Given the description of an element on the screen output the (x, y) to click on. 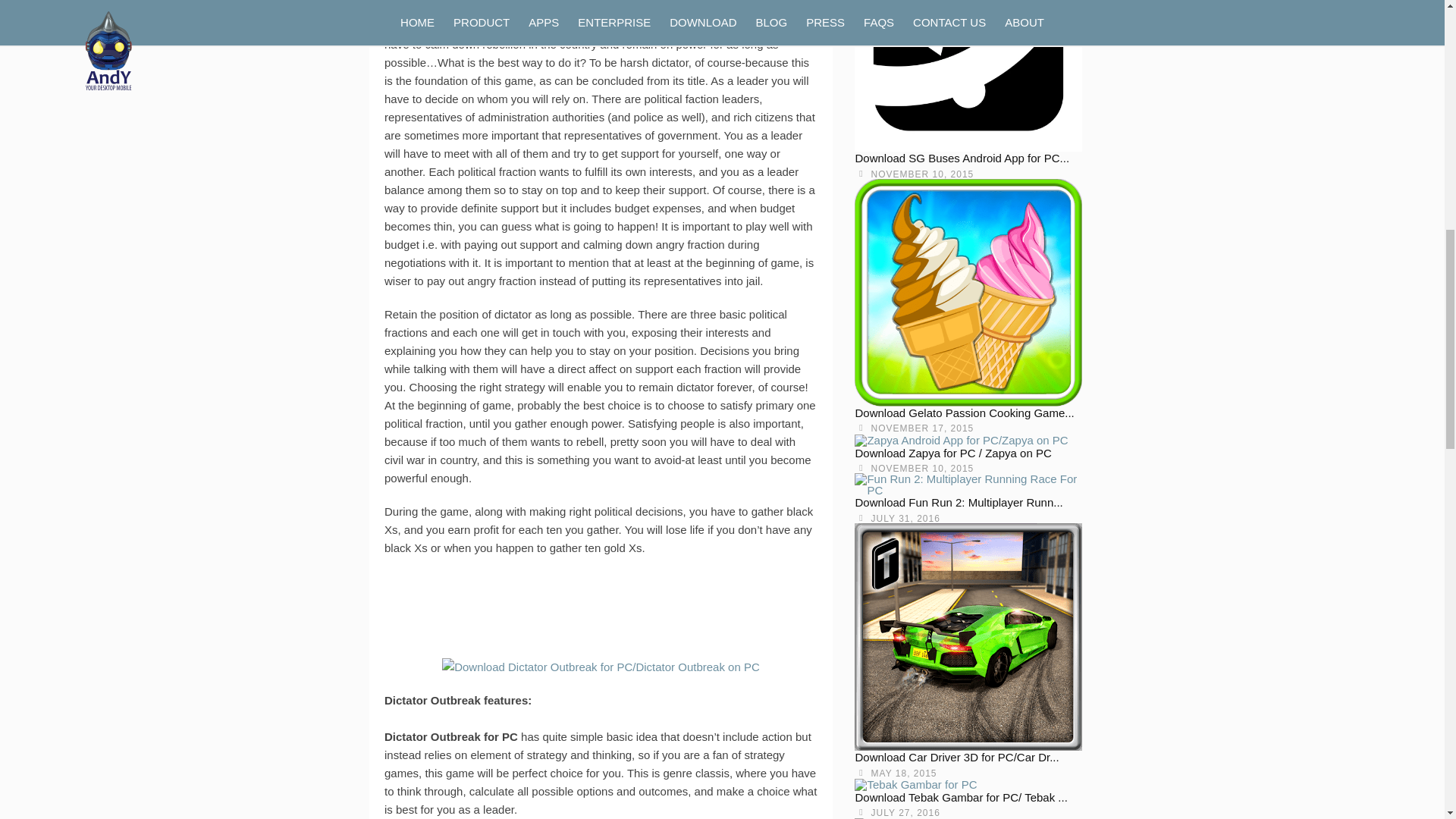
Download SG Buses Android App for PC... (961, 157)
Download Gelato Passion Cooking Game... (964, 412)
Download Fun Run 2: Multiplayer Runn... (958, 502)
